Given the description of an element on the screen output the (x, y) to click on. 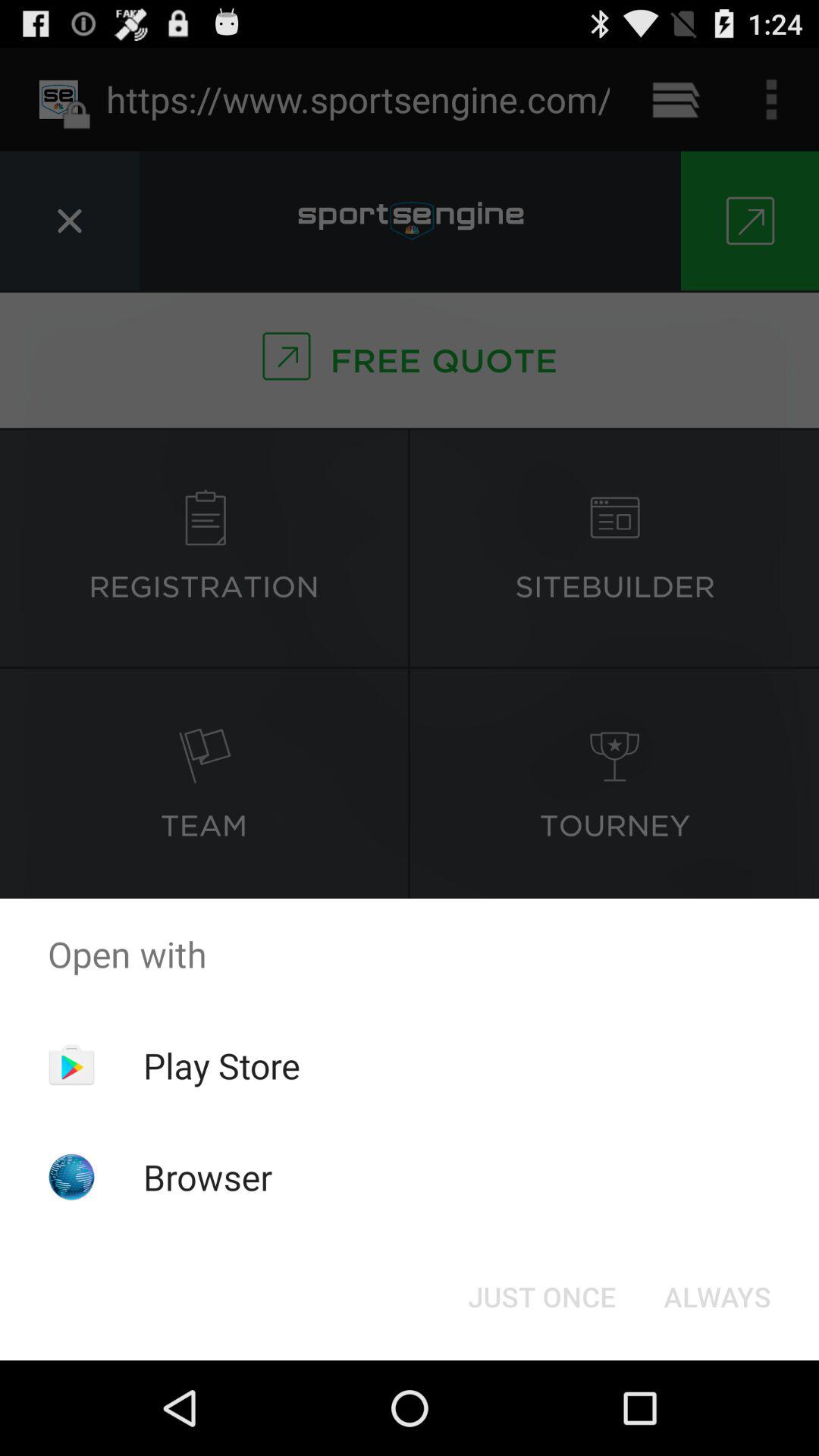
tap item next to just once item (717, 1296)
